Given the description of an element on the screen output the (x, y) to click on. 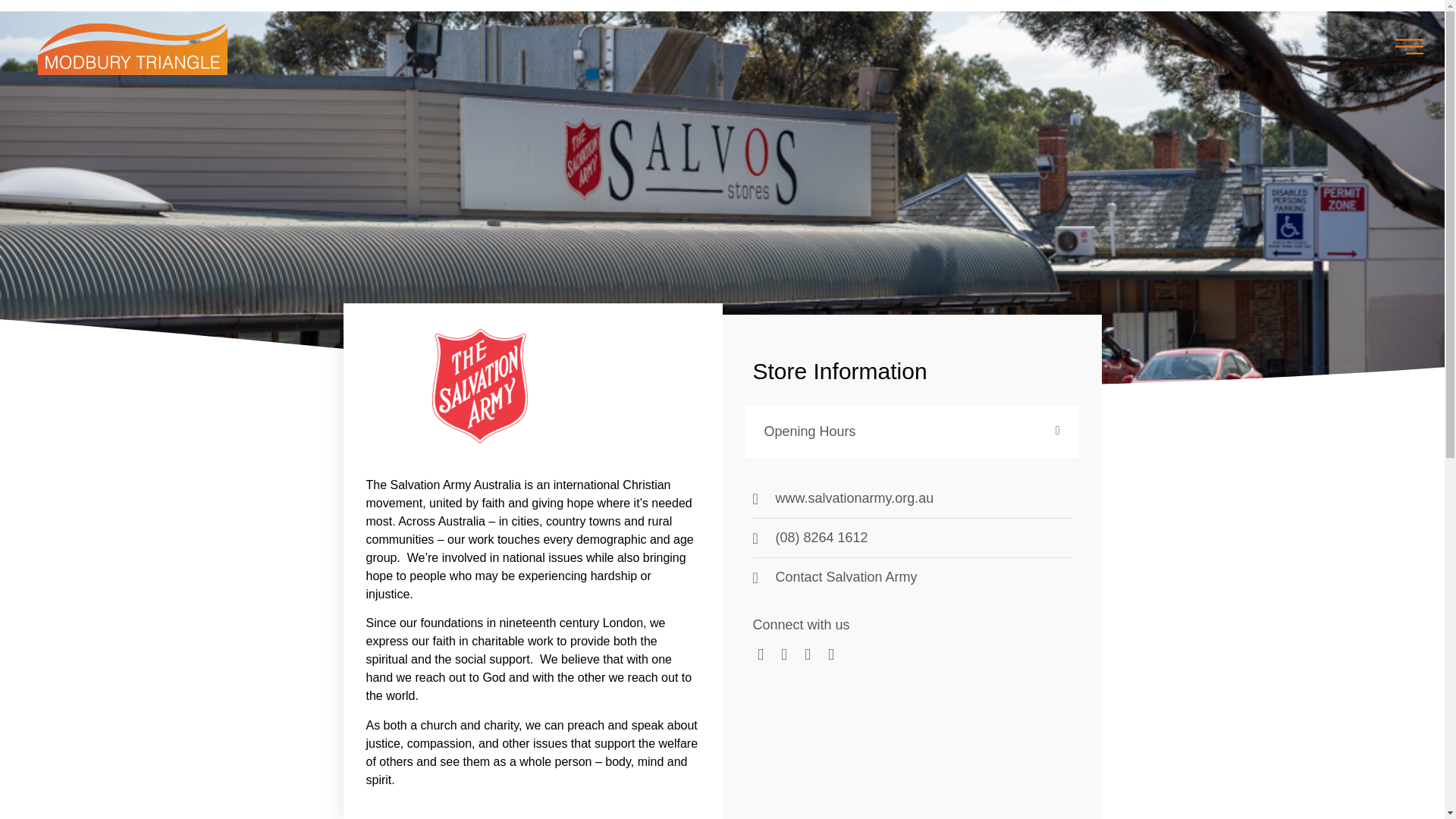
Contact Salvation Army (911, 577)
Opening Hours (810, 431)
www.salvationarmy.org.au (911, 498)
Modbury Triangle (132, 49)
